Given the description of an element on the screen output the (x, y) to click on. 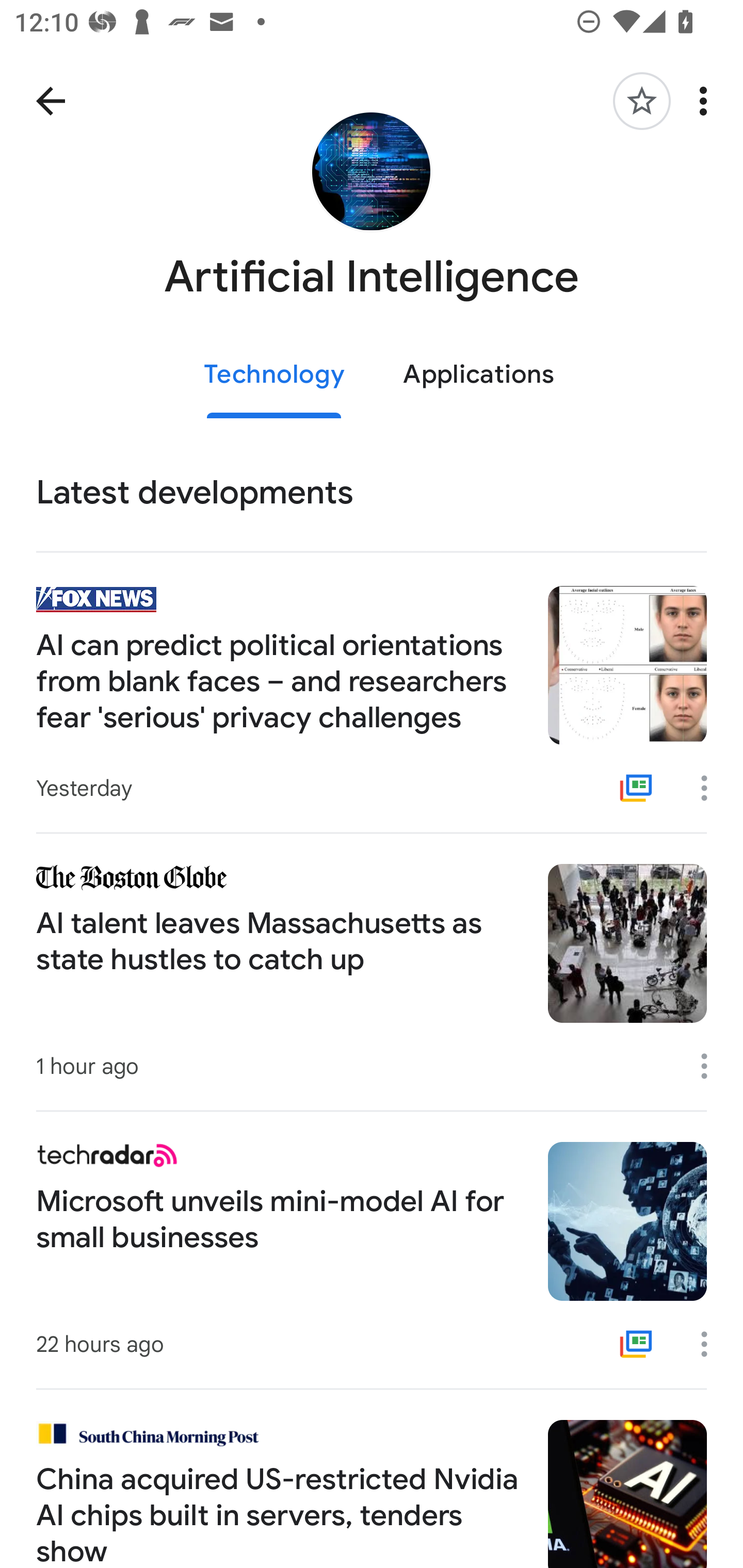
Navigate up (50, 101)
More options (706, 101)
Applications (478, 375)
Latest developments (371, 492)
More options (711, 787)
More options (711, 1066)
More options (711, 1344)
